Given the description of an element on the screen output the (x, y) to click on. 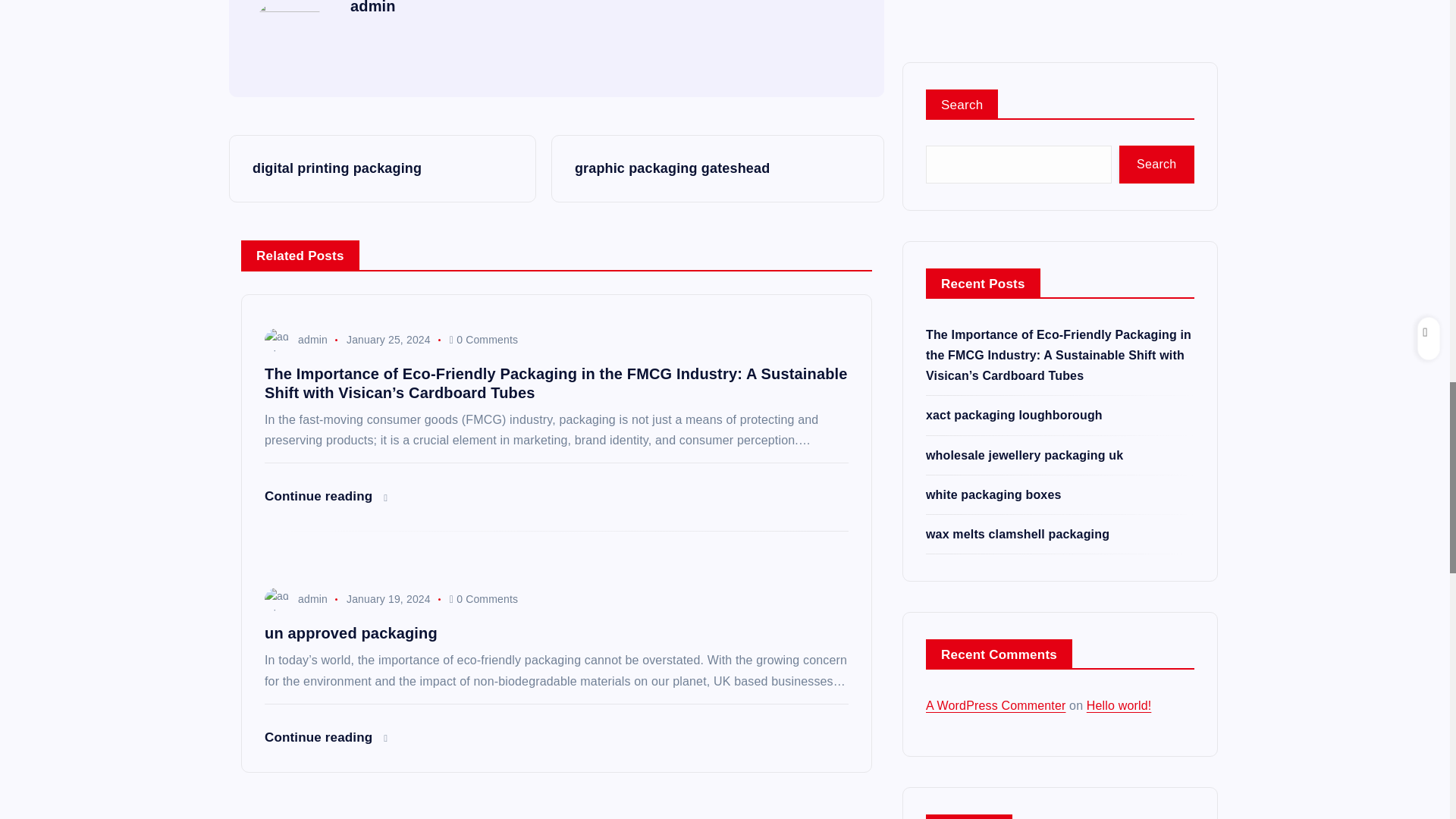
admin (295, 339)
graphic packaging gateshead (717, 168)
Continue reading (325, 495)
admin (373, 7)
digital printing packaging (381, 168)
Continue reading (325, 737)
admin (295, 598)
